Given the description of an element on the screen output the (x, y) to click on. 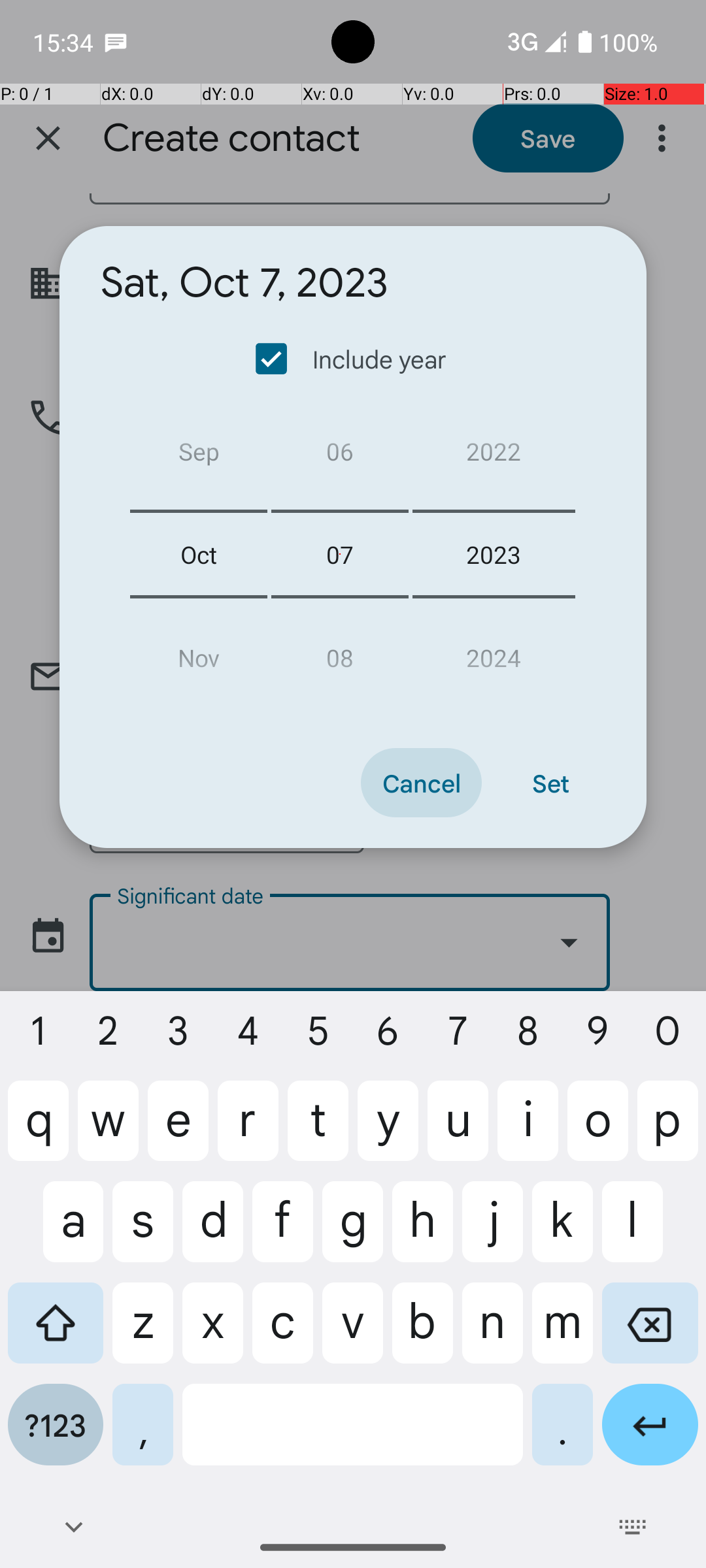
Sat, Oct 7, 2023 Element type: android.widget.TextView (244, 282)
Include year Element type: android.widget.CheckBox (351, 358)
Sep Element type: android.widget.Button (198, 455)
Oct Element type: android.widget.EditText (198, 553)
Nov Element type: android.widget.Button (198, 651)
06 Element type: android.widget.Button (339, 455)
07 Element type: android.widget.EditText (339, 553)
08 Element type: android.widget.Button (339, 651)
2022 Element type: android.widget.Button (493, 455)
2024 Element type: android.widget.Button (493, 651)
Set Element type: android.widget.Button (550, 782)
